Given the description of an element on the screen output the (x, y) to click on. 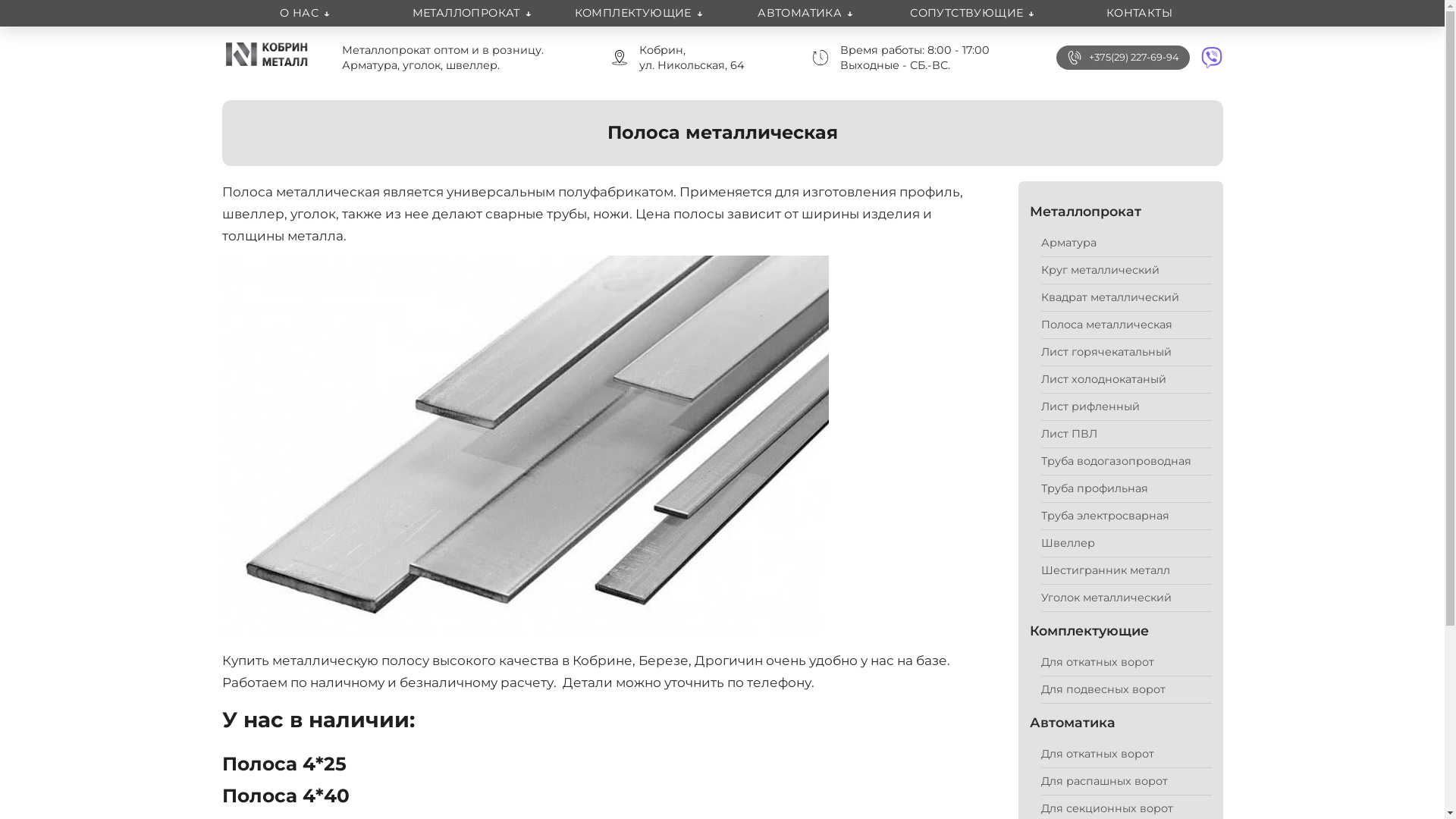
+375(29) 227-69-94 Element type: text (1133, 57)
